Given the description of an element on the screen output the (x, y) to click on. 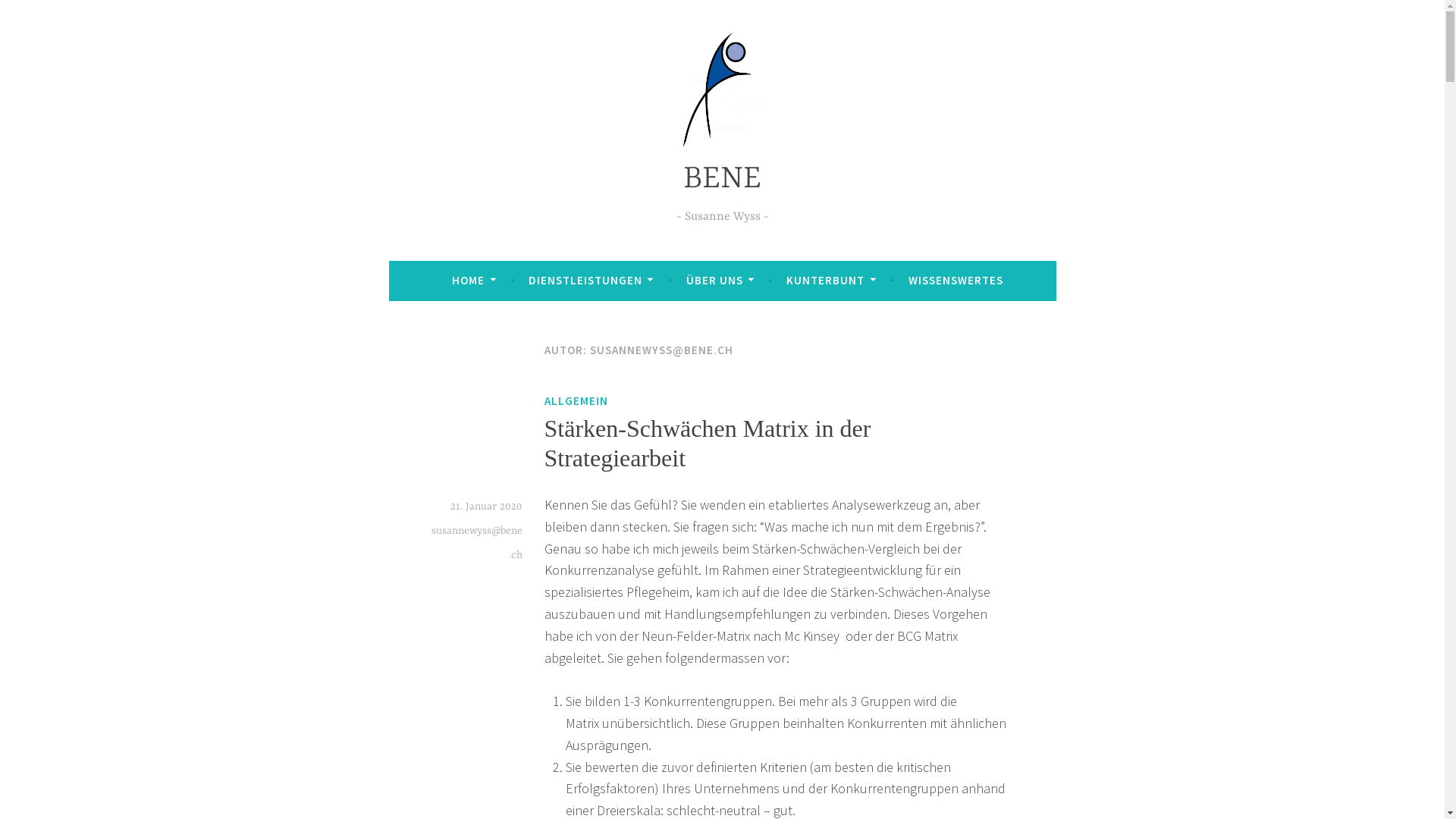
susannewyss@bene.ch Element type: text (475, 542)
ALLGEMEIN Element type: text (576, 401)
KUNTERBUNT Element type: text (830, 280)
WISSENSWERTES Element type: text (955, 280)
DIENSTLEISTUNGEN Element type: text (590, 280)
21. Januar 2020 Element type: text (486, 506)
BENE Element type: text (722, 179)
HOME Element type: text (473, 280)
